Given the description of an element on the screen output the (x, y) to click on. 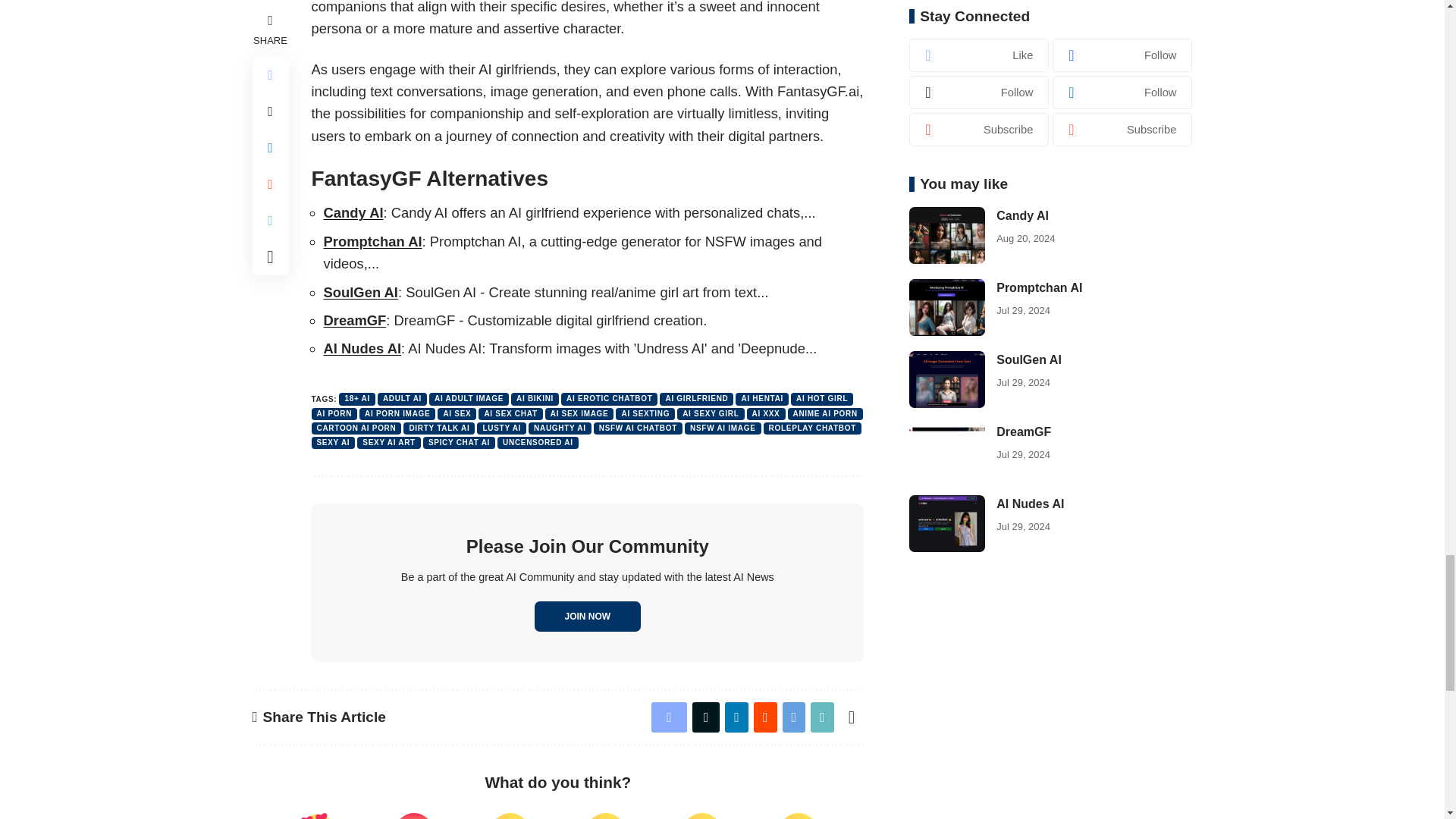
Candy AI (352, 212)
AI Nudes AI (362, 348)
Promptchan AI (372, 241)
SoulGen AI (360, 292)
DreamGF (354, 320)
